Given the description of an element on the screen output the (x, y) to click on. 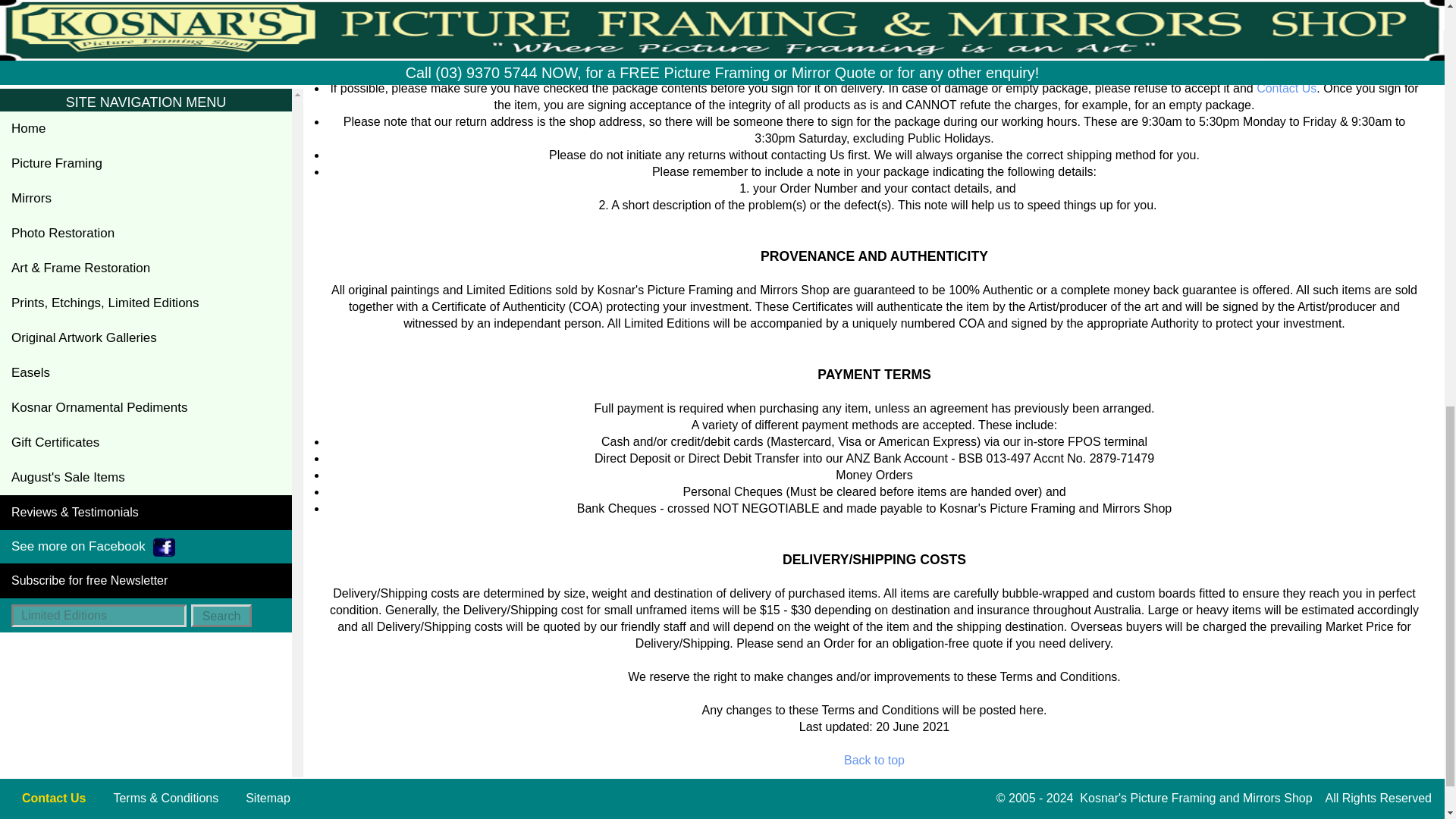
Don't be shy (1286, 88)
Back to top (874, 759)
Contact Us (1286, 88)
